Given the description of an element on the screen output the (x, y) to click on. 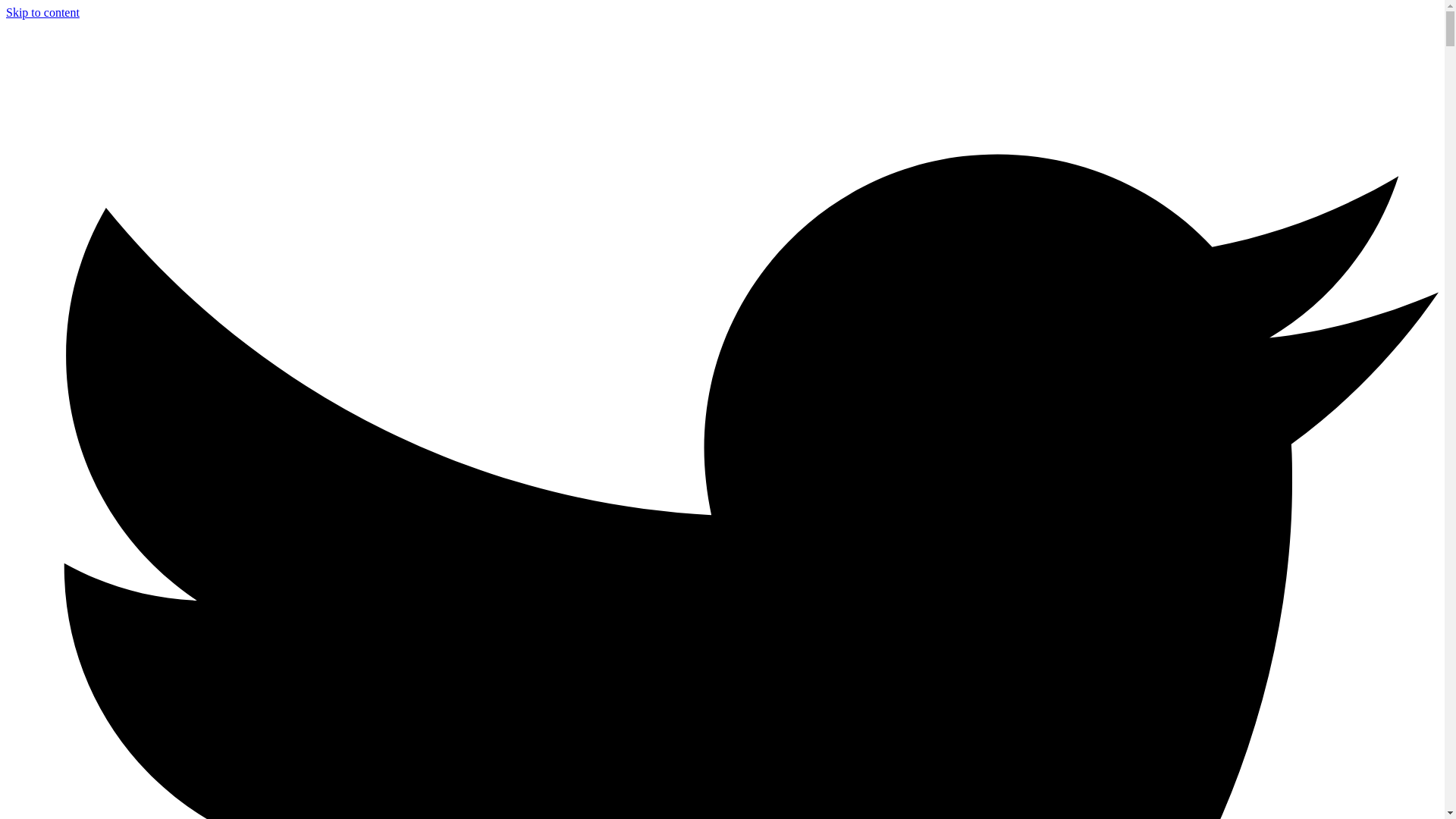
Skip to content (42, 11)
Skip to content (42, 11)
